Given the description of an element on the screen output the (x, y) to click on. 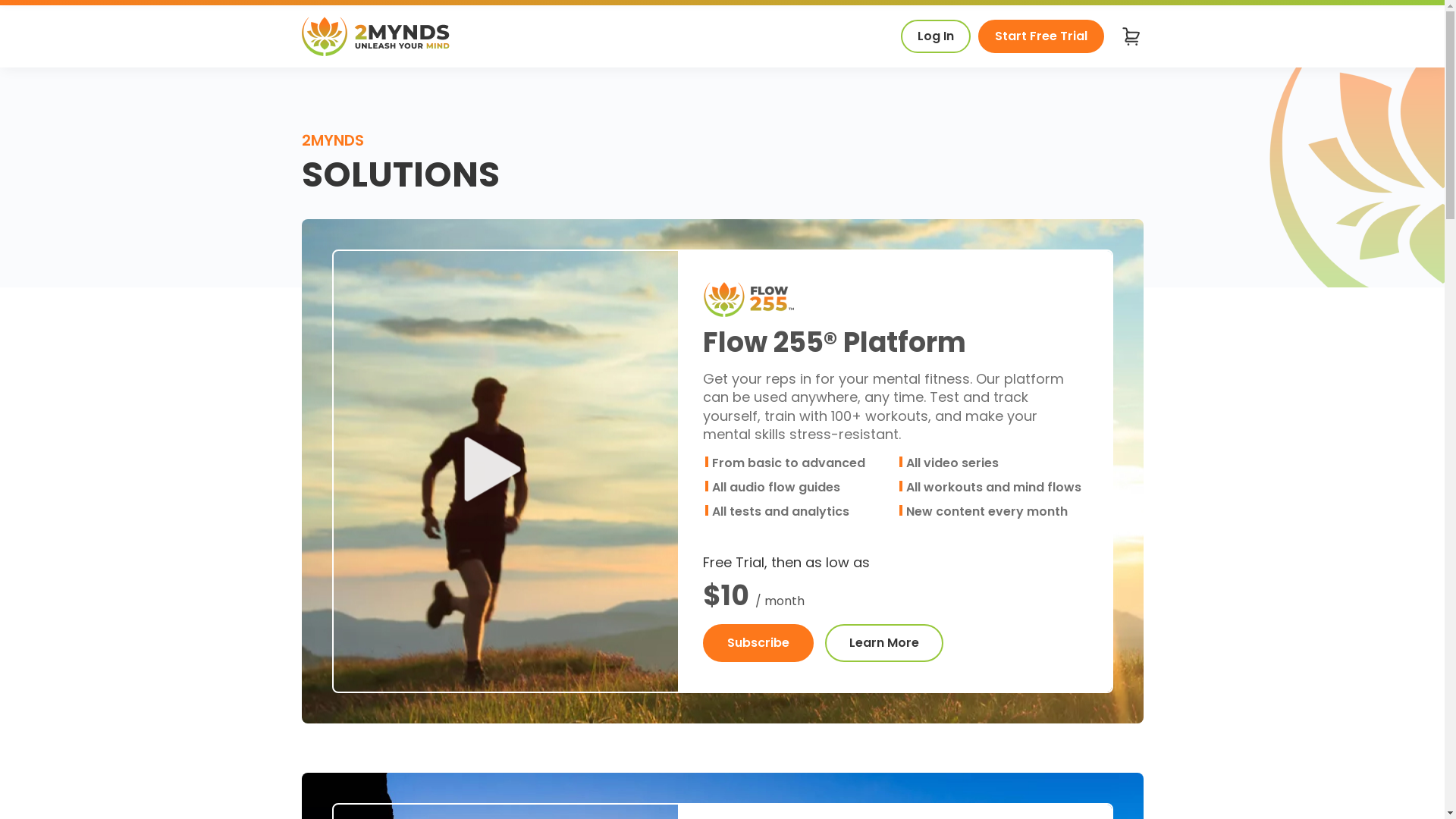
Start Free Trial Element type: text (1041, 36)
Cart Element type: text (1131, 36)
Subscribe Element type: text (757, 643)
Log In Element type: text (935, 36)
Learn More Element type: text (884, 643)
